Given the description of an element on the screen output the (x, y) to click on. 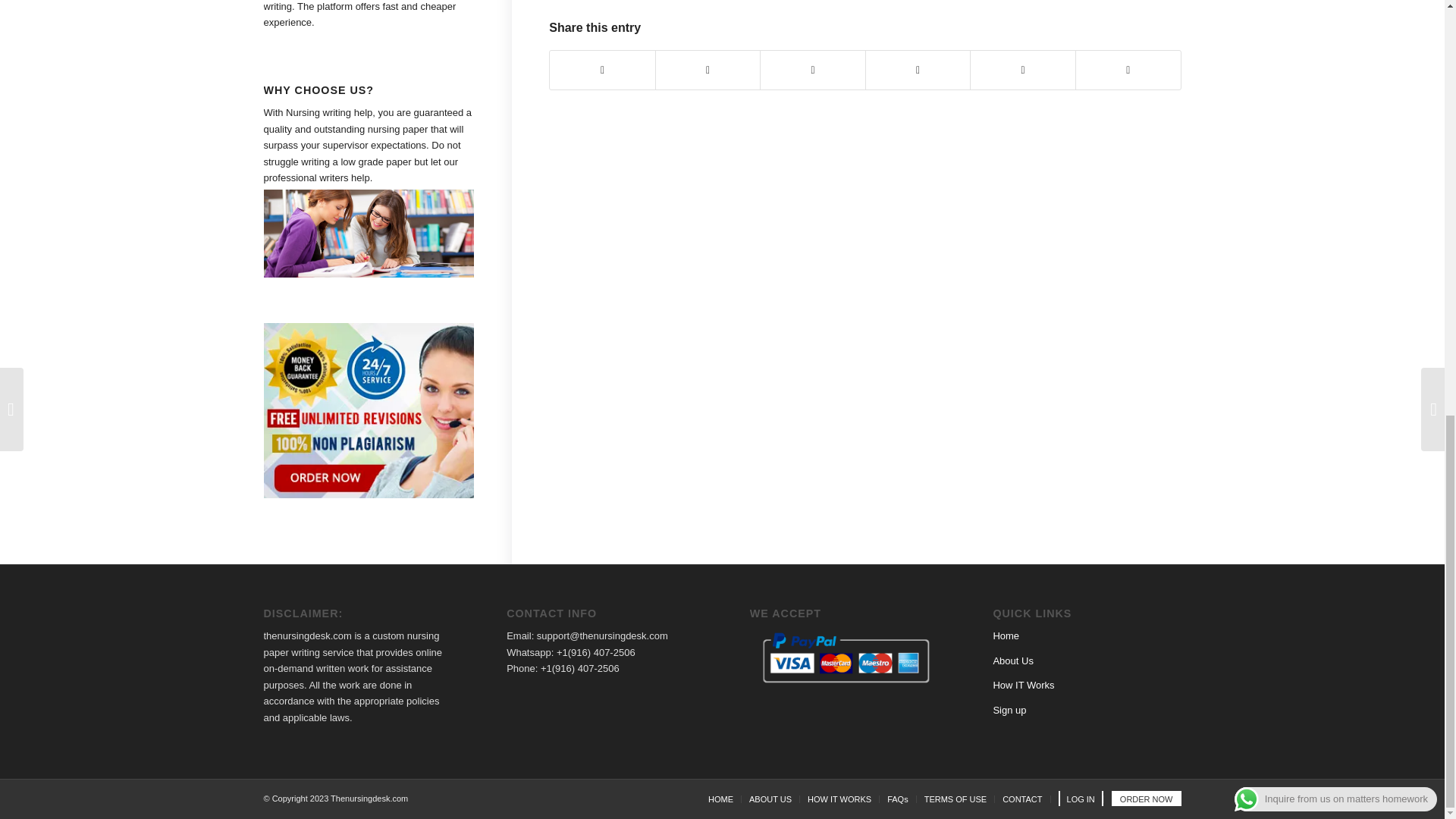
TERMS OF USE (955, 798)
ORDER NOW (1146, 799)
ABOUT US (770, 798)
FAQs (897, 798)
About Us (1012, 660)
HOME (720, 798)
Sign up (1009, 709)
CONTACT (1022, 798)
HOW IT WORKS (839, 798)
How IT Works (1023, 685)
Home (1005, 635)
LOG IN (1080, 799)
